Given the description of an element on the screen output the (x, y) to click on. 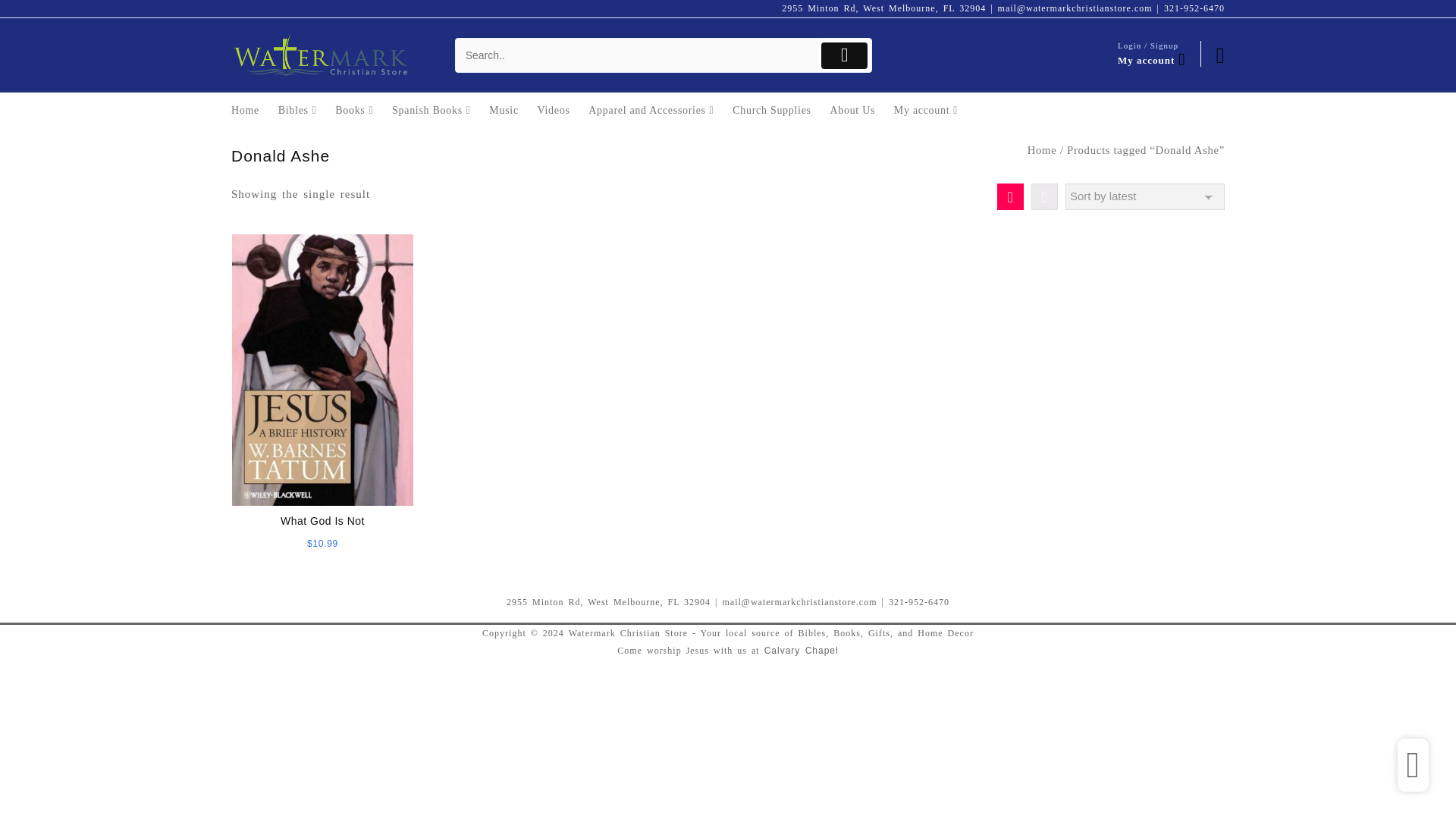
2955 Minton Rd, West Melbourne, FL 32904 (883, 8)
321-952-6470 (1193, 8)
Search (636, 55)
List View (1044, 196)
Submit (844, 55)
Grid View (1010, 196)
